Given the description of an element on the screen output the (x, y) to click on. 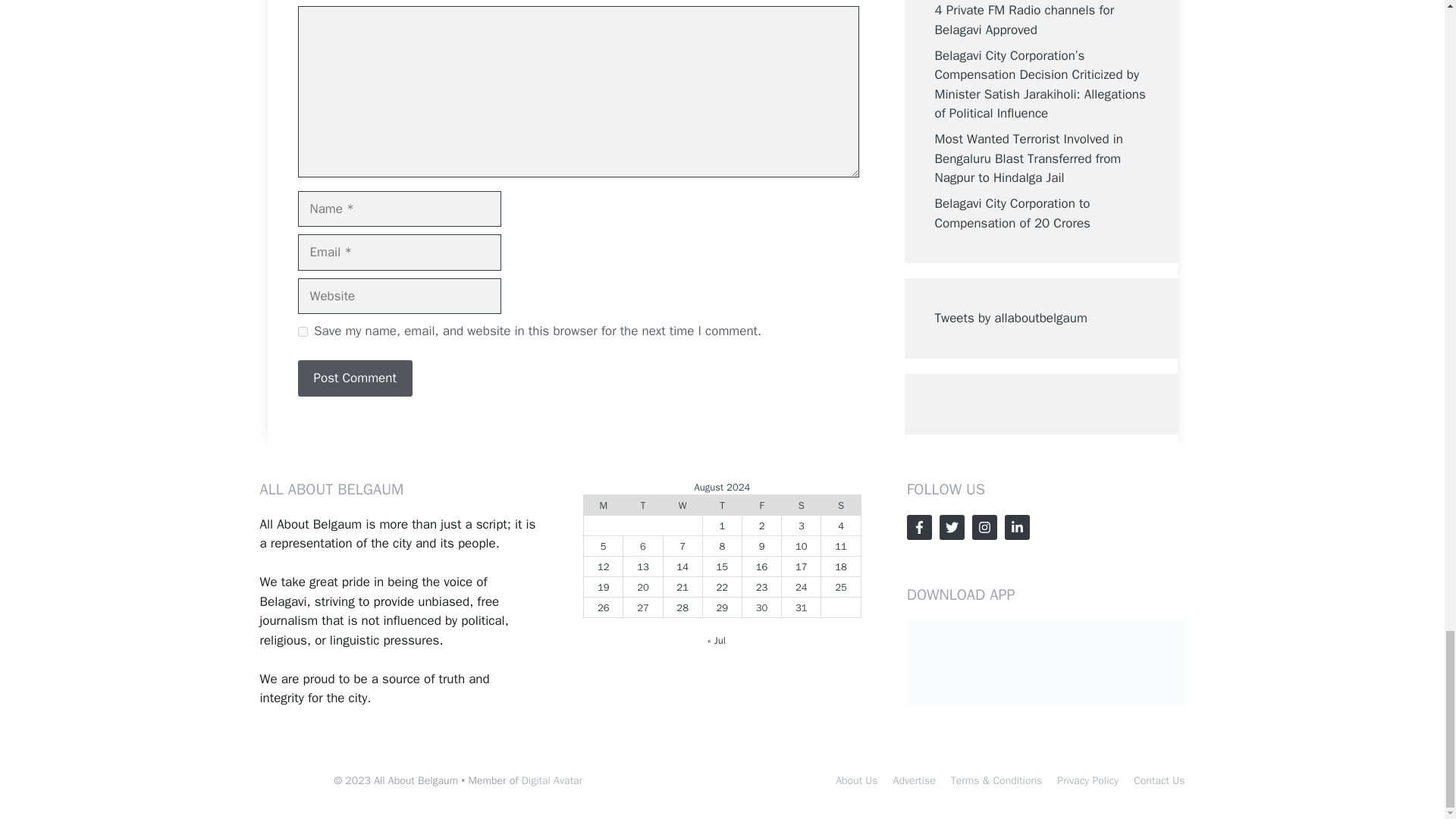
Post Comment (354, 378)
Tuesday (642, 505)
Friday (760, 505)
Post Comment (354, 378)
Monday (603, 505)
Sunday (840, 505)
Wednesday (681, 505)
Thursday (721, 505)
Saturday (801, 505)
yes (302, 331)
